Given the description of an element on the screen output the (x, y) to click on. 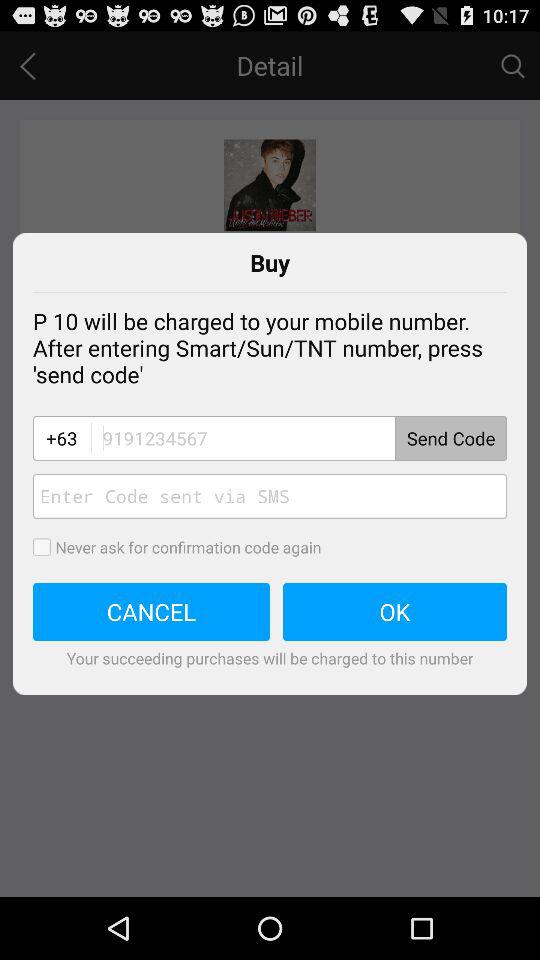
turn off the ok icon (395, 611)
